Given the description of an element on the screen output the (x, y) to click on. 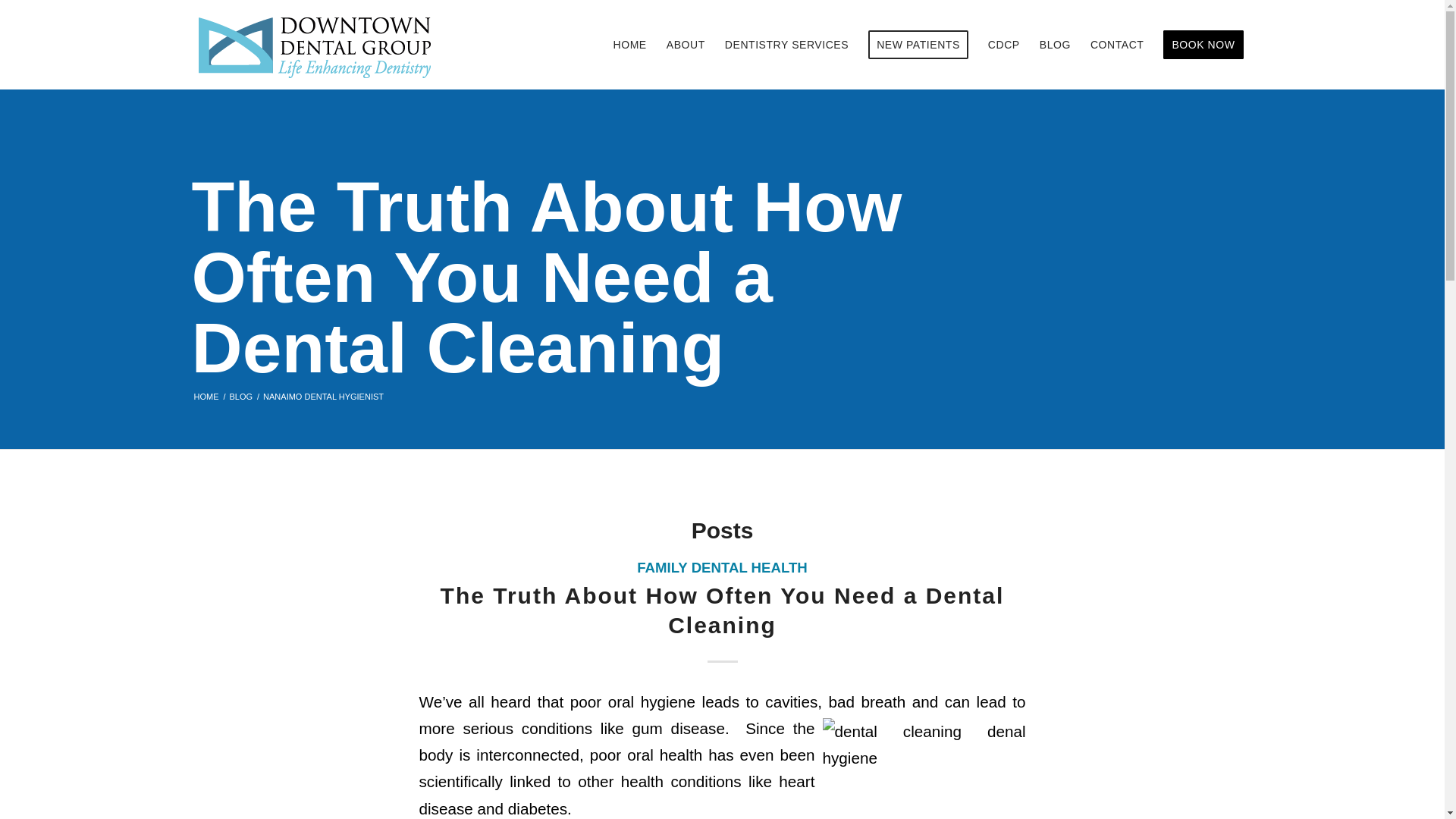
BLOG (241, 396)
FAMILY DENTAL HEALTH (722, 567)
Downtown Nanaimo Dental Group (205, 396)
NEW PATIENTS (918, 44)
HOME (205, 396)
BOOK NOW (1202, 44)
DENTISTRY SERVICES (786, 44)
The Truth About How Often You Need a Dental Cleaning (722, 610)
Blog (241, 396)
Downtown-Dental-logo-large (319, 44)
Downtown-Dental-logo-large (319, 40)
